Given the description of an element on the screen output the (x, y) to click on. 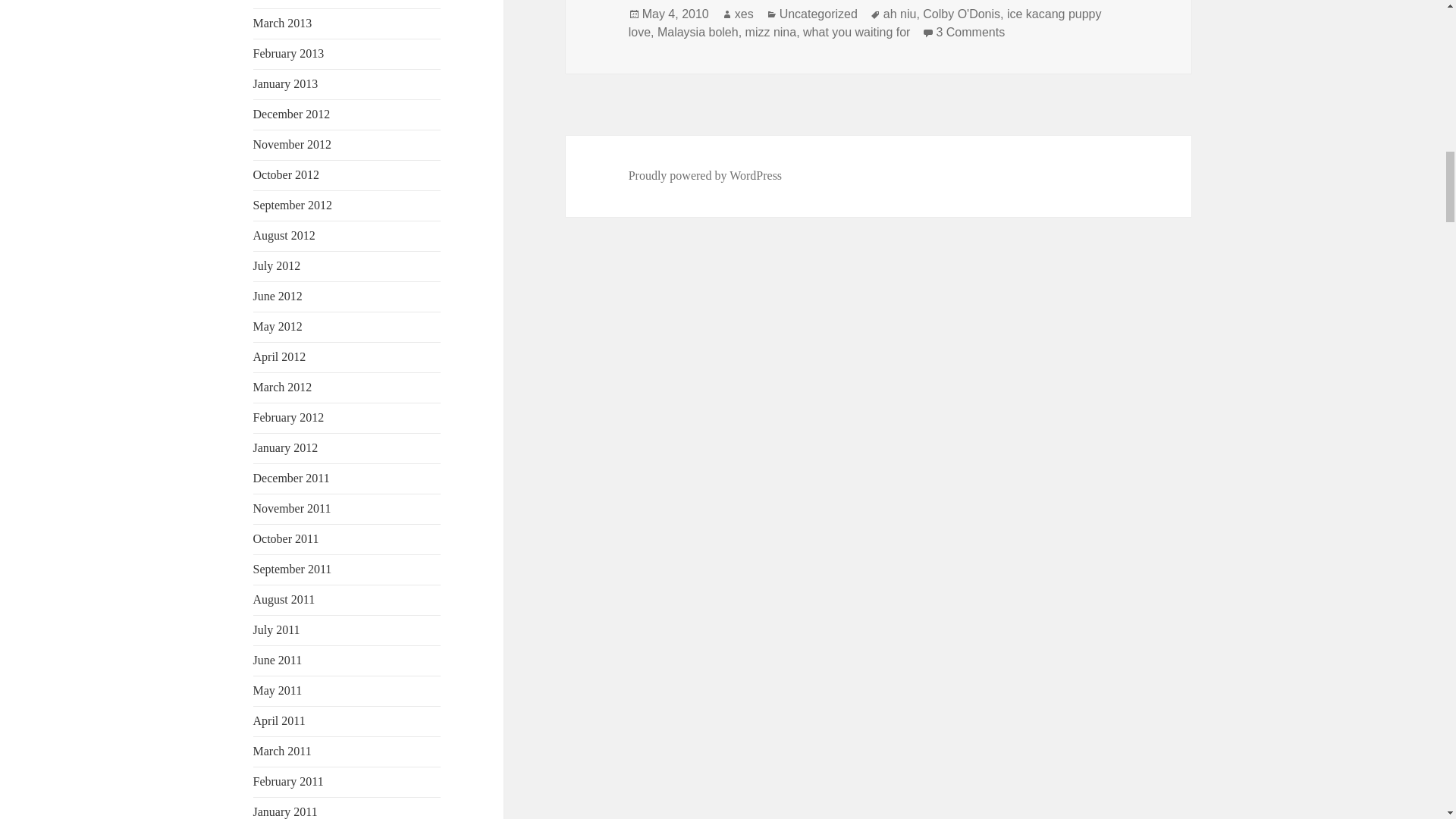
February 2013 (288, 52)
March 2013 (283, 22)
